Given the description of an element on the screen output the (x, y) to click on. 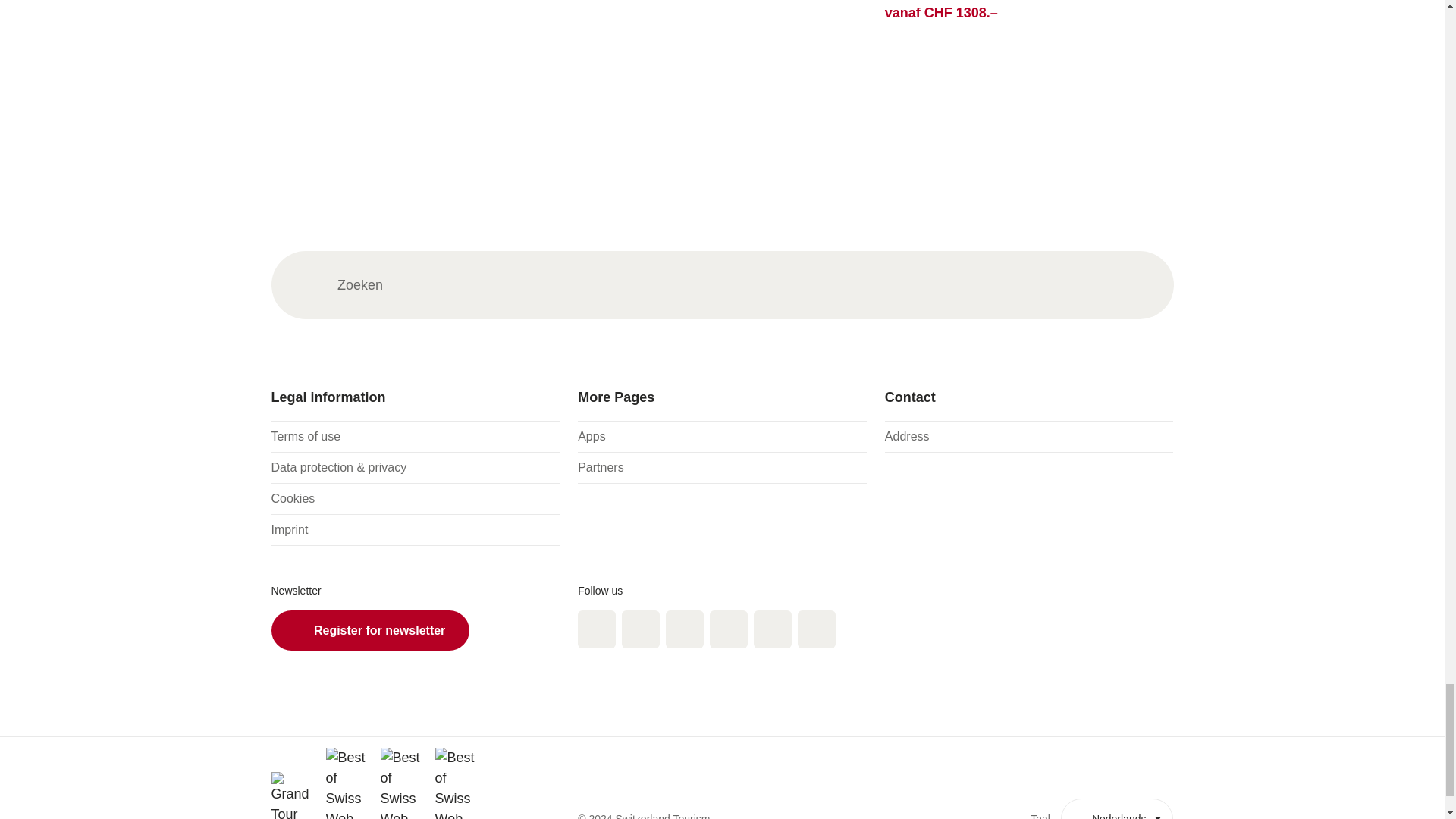
Meer info over: Tschuetta (722, 34)
